Given the description of an element on the screen output the (x, y) to click on. 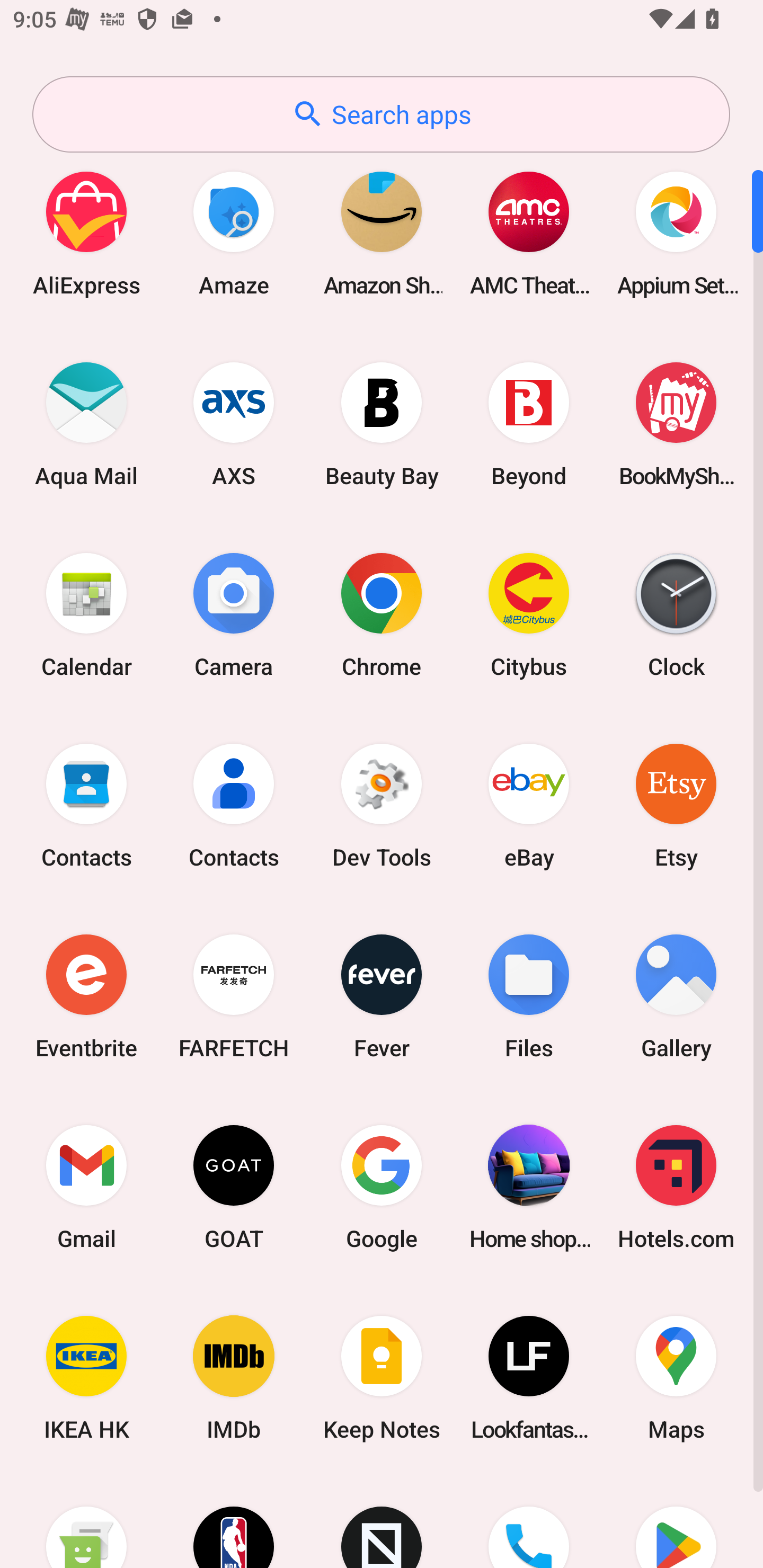
  Search apps (381, 114)
AliExpress (86, 233)
Amaze (233, 233)
Amazon Shopping (381, 233)
AMC Theatres (528, 233)
Appium Settings (676, 233)
Aqua Mail (86, 424)
AXS (233, 424)
Beauty Bay (381, 424)
Beyond (528, 424)
BookMyShow (676, 424)
Calendar (86, 614)
Camera (233, 614)
Chrome (381, 614)
Citybus (528, 614)
Clock (676, 614)
Contacts (86, 805)
Contacts (233, 805)
Dev Tools (381, 805)
eBay (528, 805)
Etsy (676, 805)
Eventbrite (86, 996)
FARFETCH (233, 996)
Fever (381, 996)
Files (528, 996)
Gallery (676, 996)
Gmail (86, 1186)
GOAT (233, 1186)
Google (381, 1186)
Home shopping (528, 1186)
Hotels.com (676, 1186)
IKEA HK (86, 1377)
IMDb (233, 1377)
Keep Notes (381, 1377)
Lookfantastic (528, 1377)
Maps (676, 1377)
Messaging (86, 1520)
NBA (233, 1520)
Novelship (381, 1520)
Phone (528, 1520)
Play Store (676, 1520)
